Given the description of an element on the screen output the (x, y) to click on. 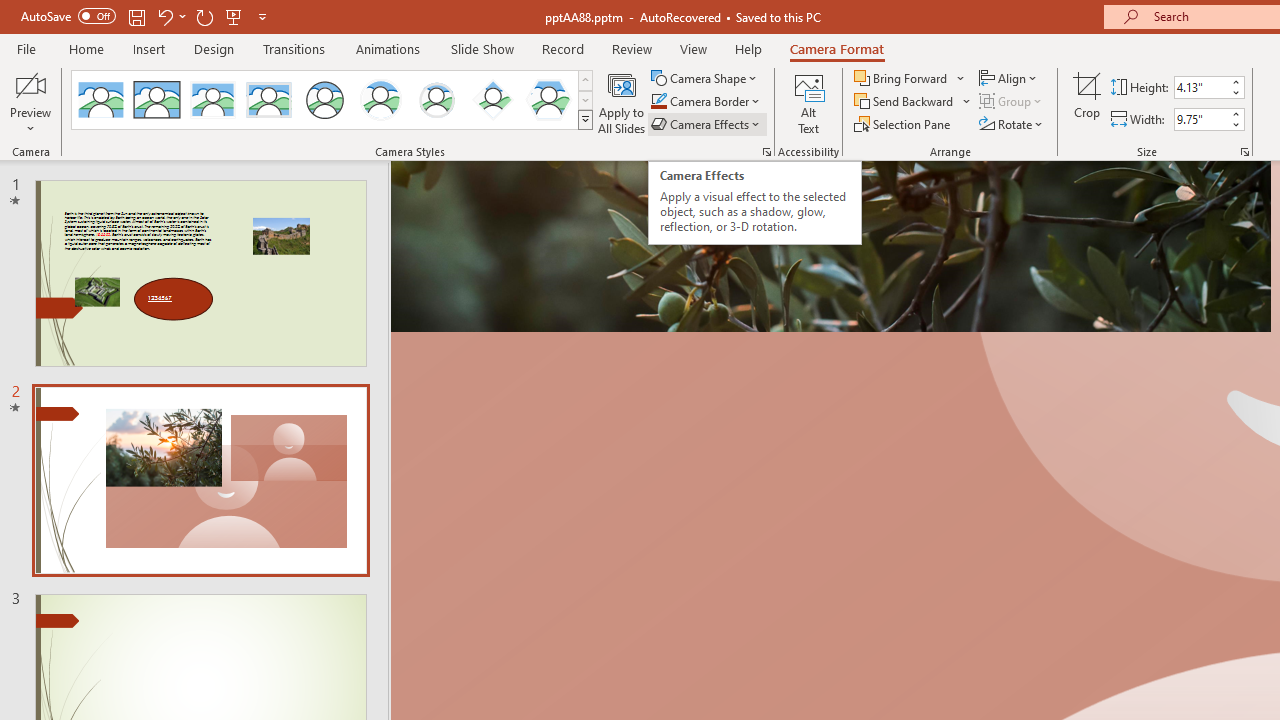
Send Backward (905, 101)
Group (1012, 101)
Less (1235, 124)
AutomationID: CameoStylesGallery (333, 99)
Size and Position... (1244, 151)
Soft Edge Rectangle (268, 100)
Camera Format (836, 48)
Cameo Height (1201, 87)
